Given the description of an element on the screen output the (x, y) to click on. 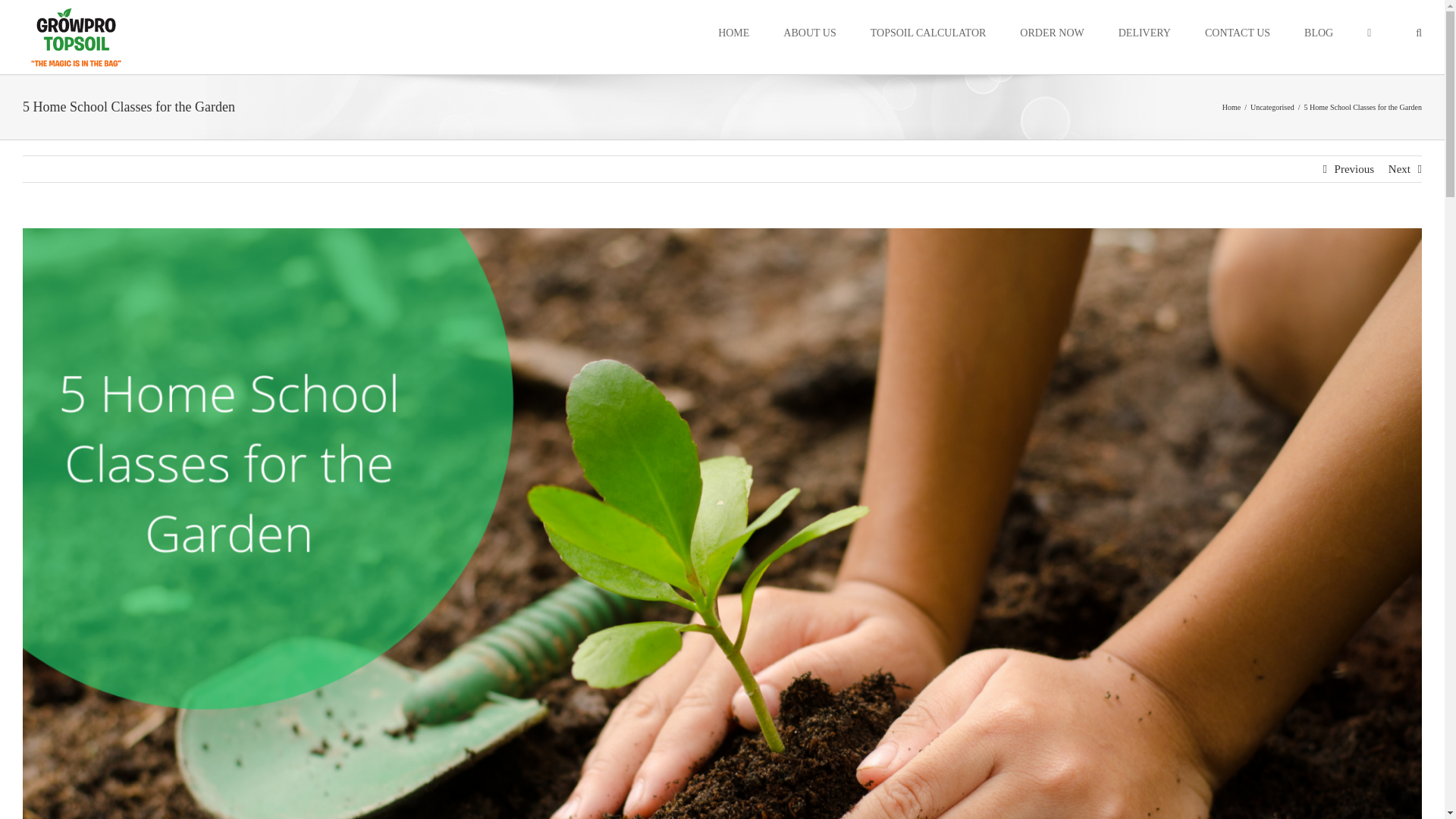
CONTACT US (1237, 31)
TOPSOIL CALCULATOR (928, 31)
Home (1231, 107)
Uncategorised (1272, 107)
Previous (1354, 168)
ORDER NOW (1051, 31)
